Given the description of an element on the screen output the (x, y) to click on. 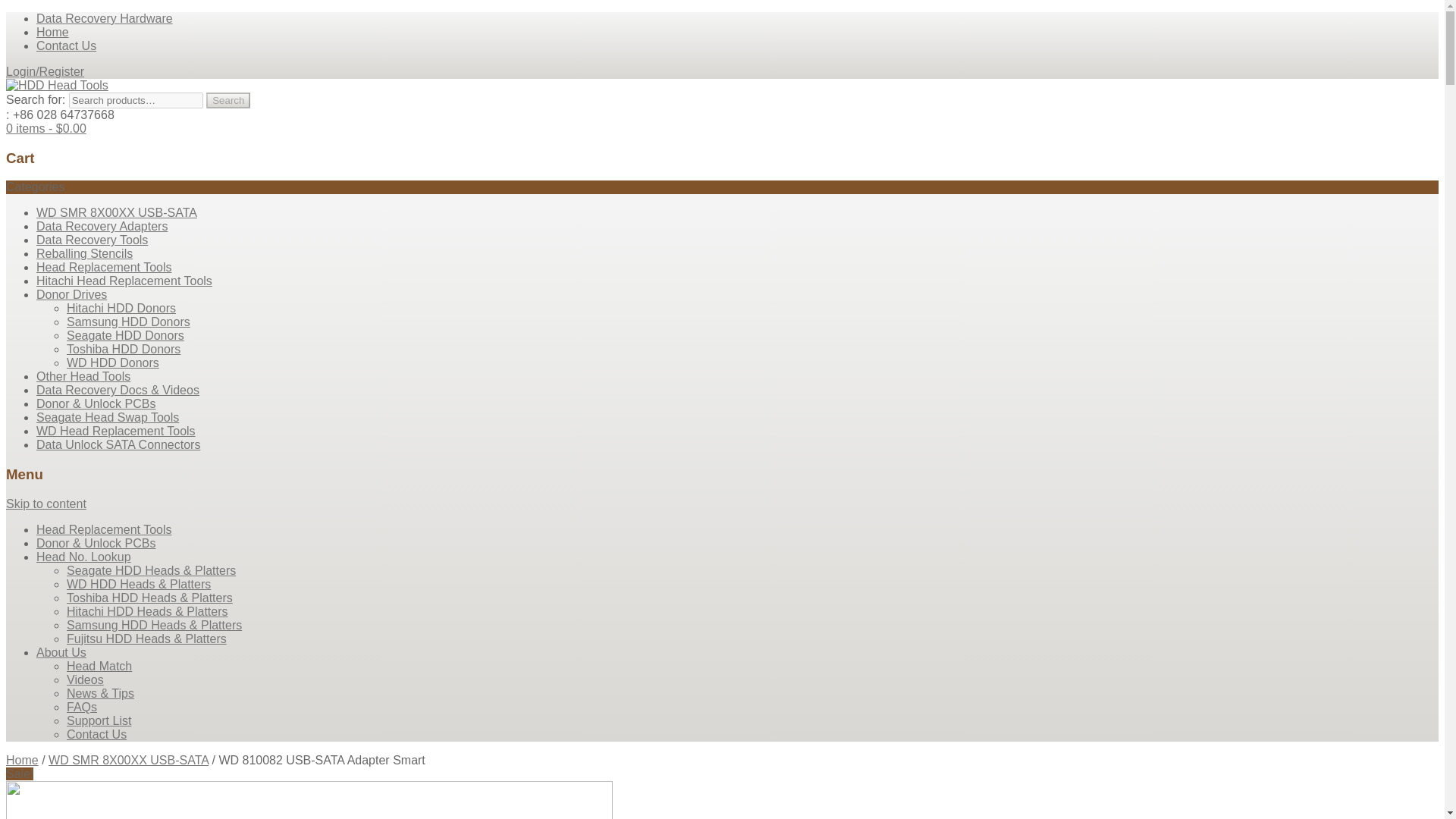
Hitachi Head Replacement Tools (124, 280)
WD Head Replacement Tools (115, 431)
Seagate Head Swap Tools (107, 417)
Donor Drives (71, 294)
Data Recovery Hardware (104, 18)
About Us (60, 652)
View your shopping cart (45, 128)
Home (52, 31)
Samsung HDD Donors (128, 321)
Reballing Stencils (84, 253)
Data Recovery Adapters (101, 226)
WD HDD Donors (112, 362)
Data Recovery Tools (92, 239)
Head Replacement Tools (103, 267)
Toshiba HDD Donors (123, 349)
